Given the description of an element on the screen output the (x, y) to click on. 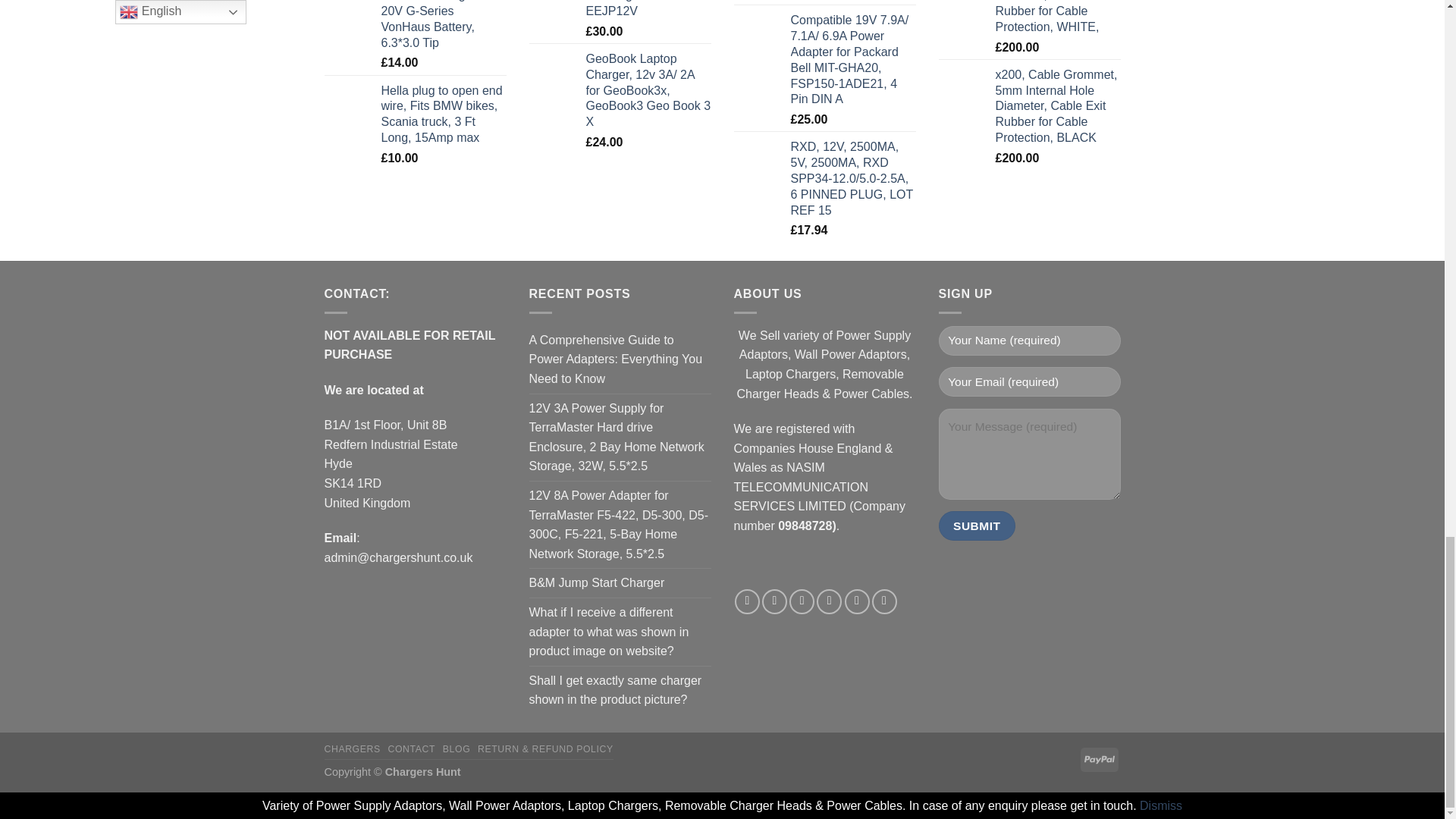
Submit (976, 525)
